Given the description of an element on the screen output the (x, y) to click on. 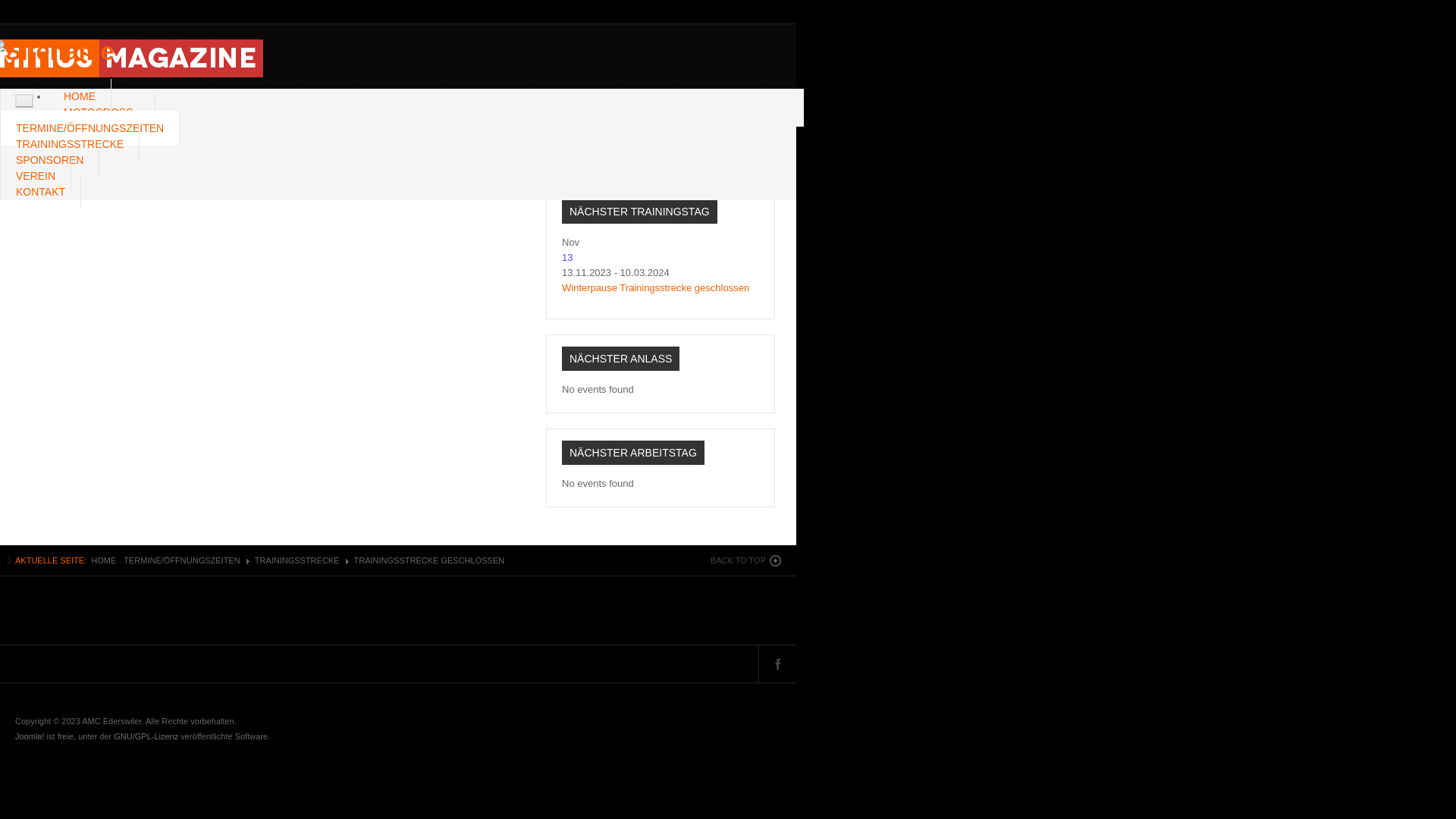
Facebook Element type: text (777, 663)
VEREIN Element type: text (35, 175)
KONTAKT Element type: text (40, 191)
Joomla! Element type: text (29, 735)
SPONSOREN Element type: text (49, 159)
Winterpause Trainingsstrecke geschlossen Element type: text (655, 287)
HOME Element type: text (79, 95)
TRAININGSSTRECKE Element type: text (296, 559)
GNU/GPL-Lizenz Element type: text (145, 735)
MOTOCROSS Element type: text (101, 111)
TRAININGSSTRECKE Element type: text (69, 143)
Facebook Element type: text (777, 144)
HOME Element type: text (103, 559)
